Given the description of an element on the screen output the (x, y) to click on. 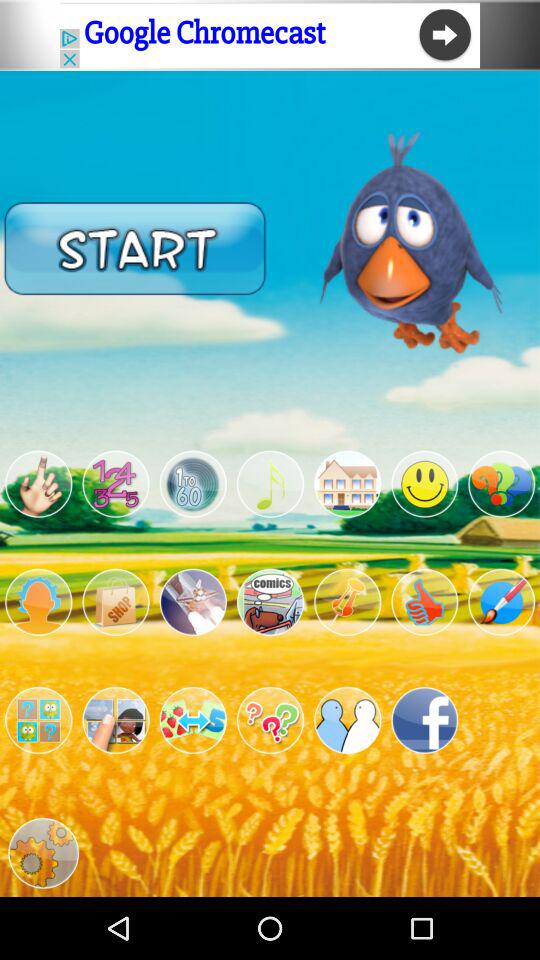
choose mood (424, 484)
